Given the description of an element on the screen output the (x, y) to click on. 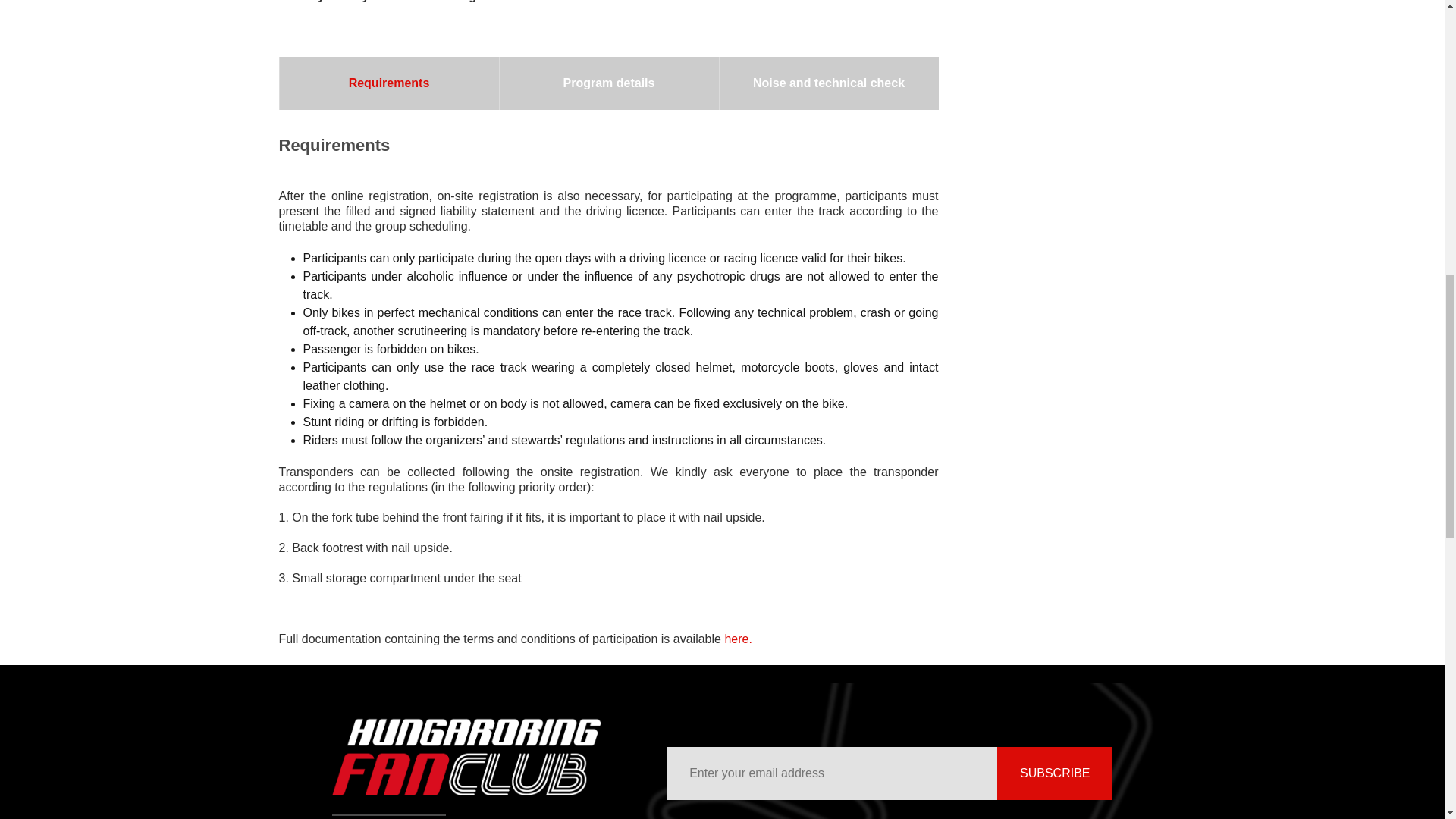
Program details (608, 82)
Requirements (388, 82)
